Given the description of an element on the screen output the (x, y) to click on. 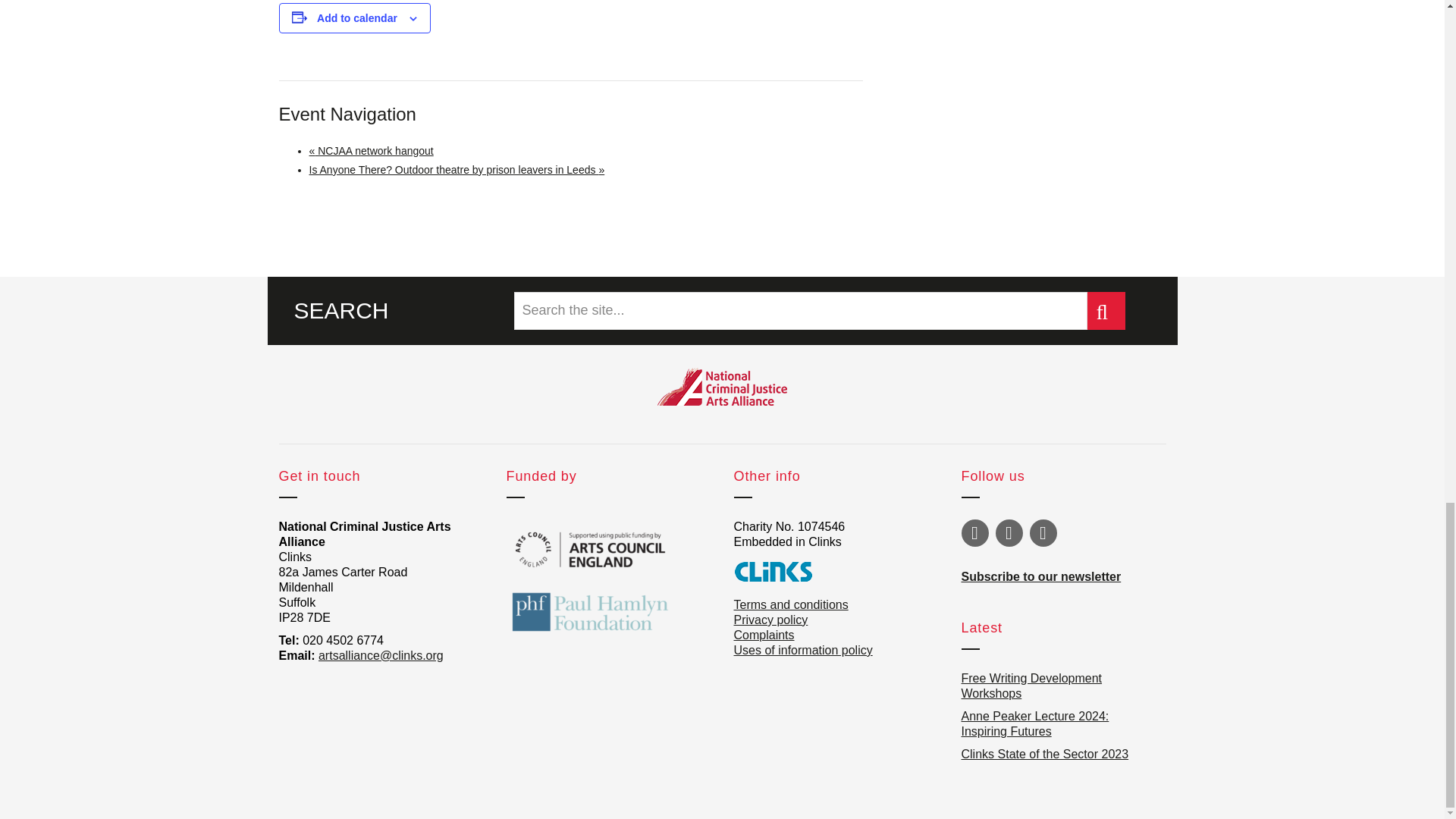
Facebook (1008, 533)
Twitter (974, 533)
Linkedin (1043, 533)
